Given the description of an element on the screen output the (x, y) to click on. 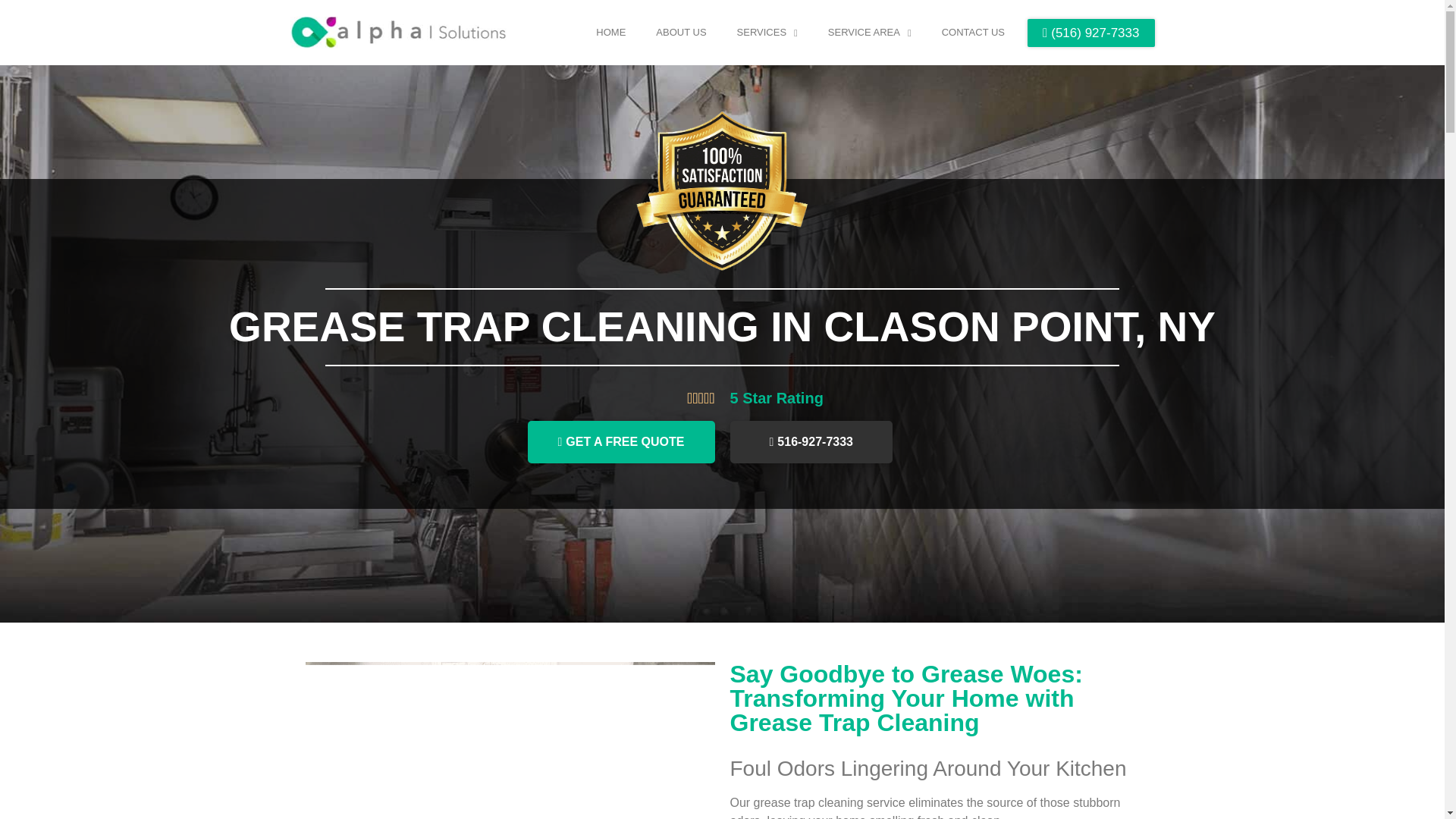
SERVICE AREA (869, 32)
SERVICES (767, 32)
ABOUT US (680, 32)
CONTACT US (973, 32)
HOME (610, 32)
